Given the description of an element on the screen output the (x, y) to click on. 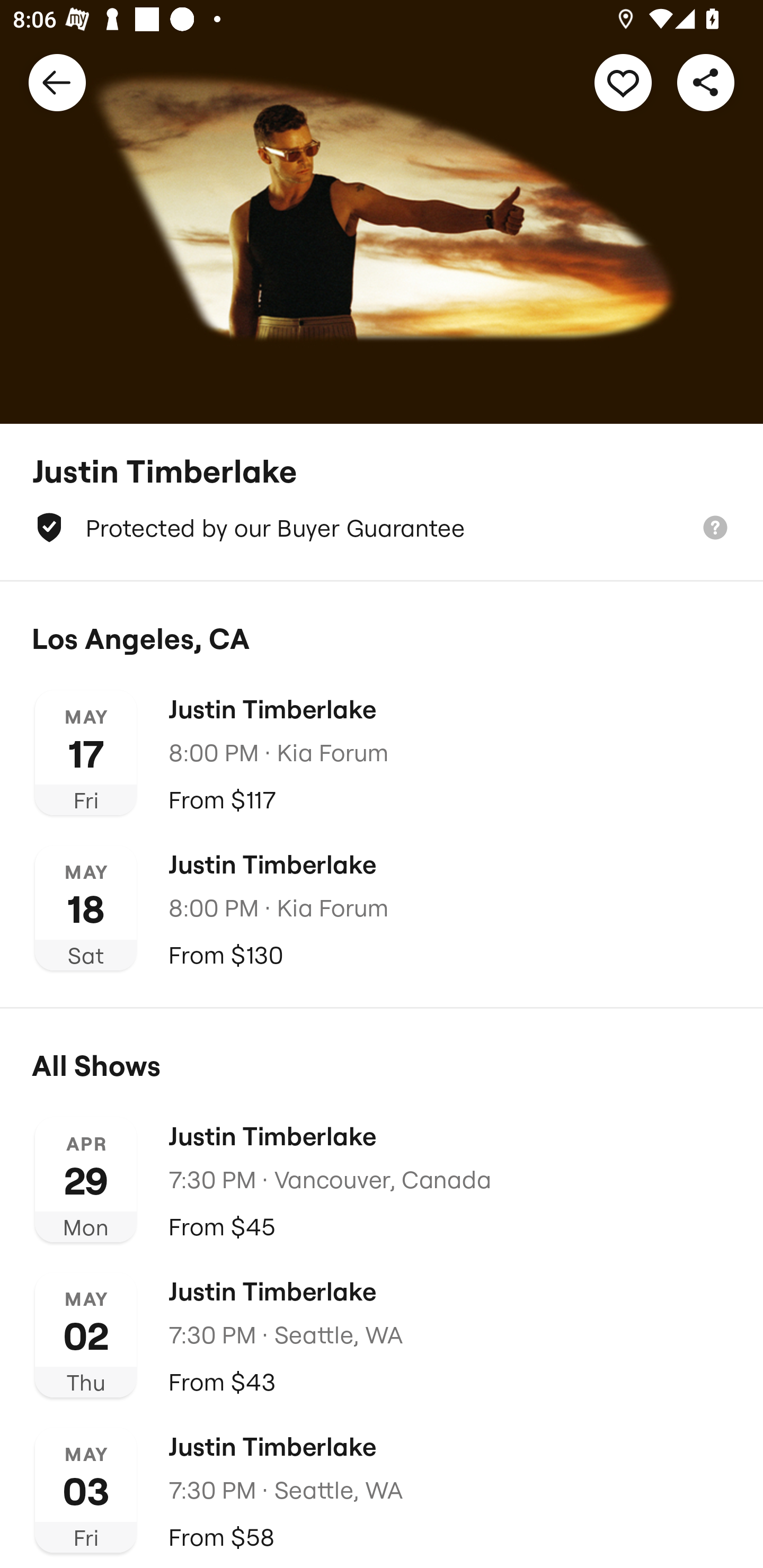
Back (57, 81)
Track this performer (623, 81)
Share this performer (705, 81)
Protected by our Buyer Guarantee Learn more (381, 527)
